Given the description of an element on the screen output the (x, y) to click on. 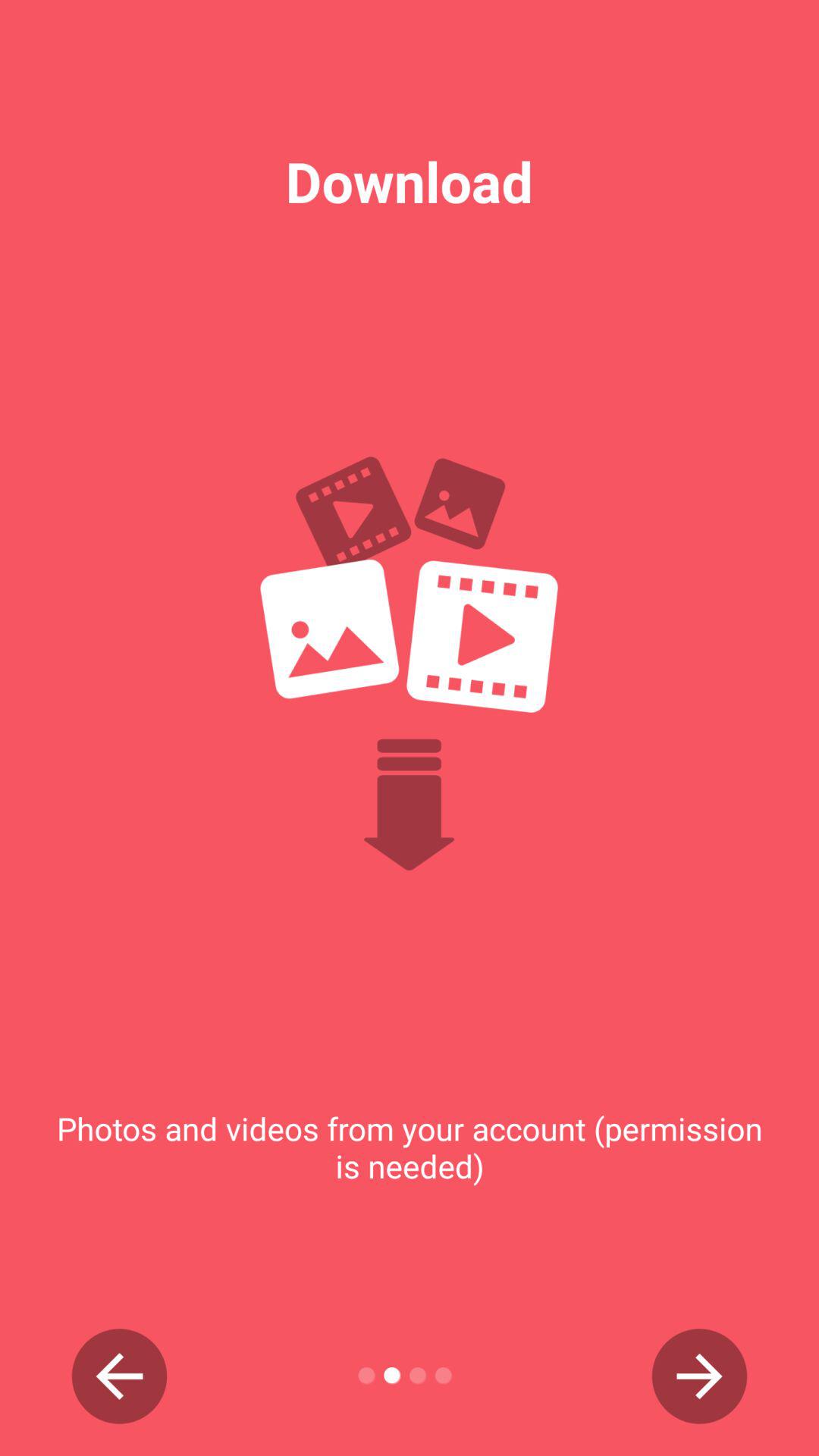
go back (119, 1376)
